Given the description of an element on the screen output the (x, y) to click on. 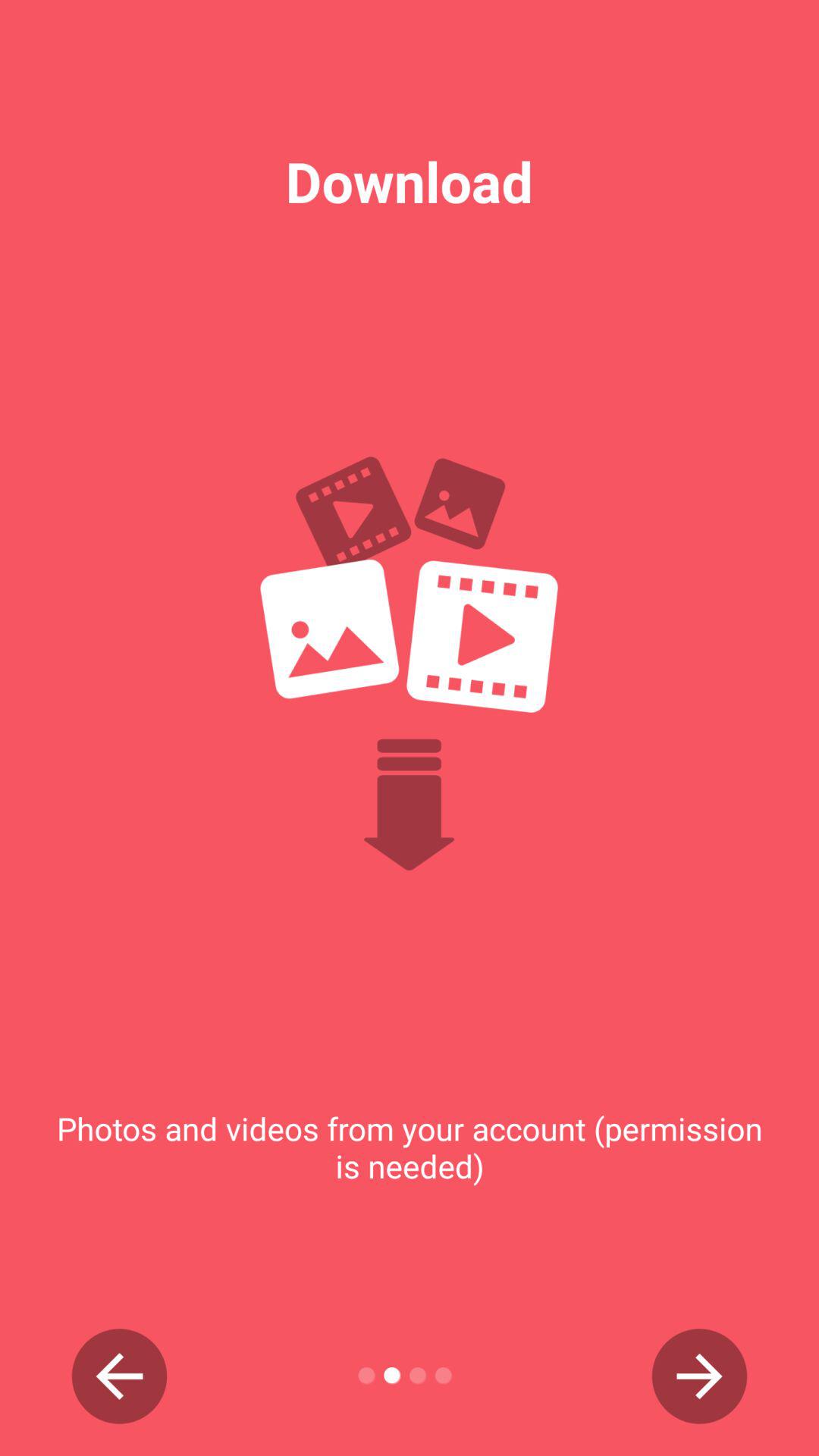
go back (119, 1376)
